Given the description of an element on the screen output the (x, y) to click on. 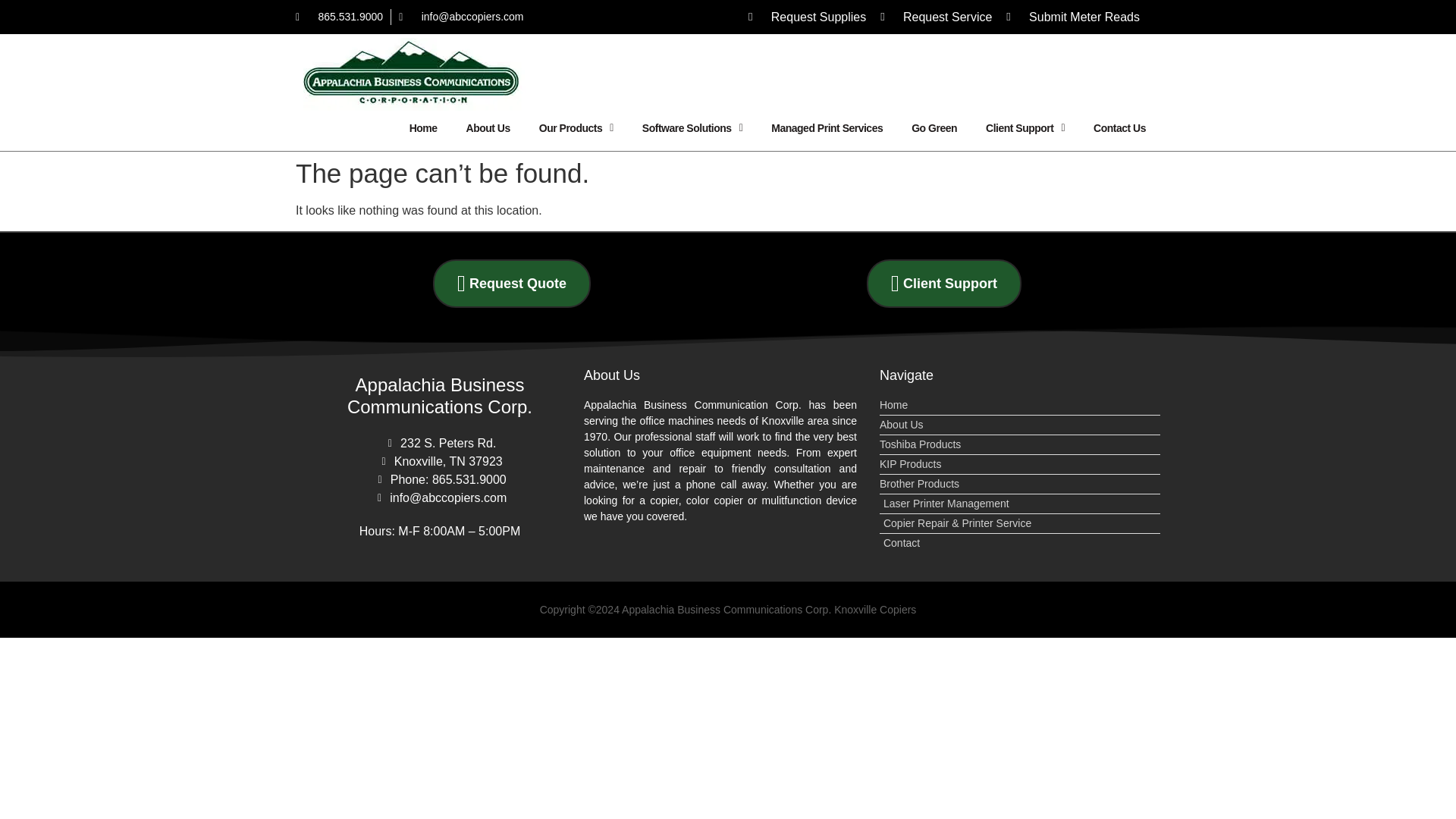
logo (414, 73)
865.531.9000 (338, 17)
Software Solutions (692, 127)
Go Green (933, 127)
Request Service (935, 16)
Request Supplies (807, 16)
Client Support (1024, 127)
Contact Us (1119, 127)
Home (422, 127)
About Us (487, 127)
